Given the description of an element on the screen output the (x, y) to click on. 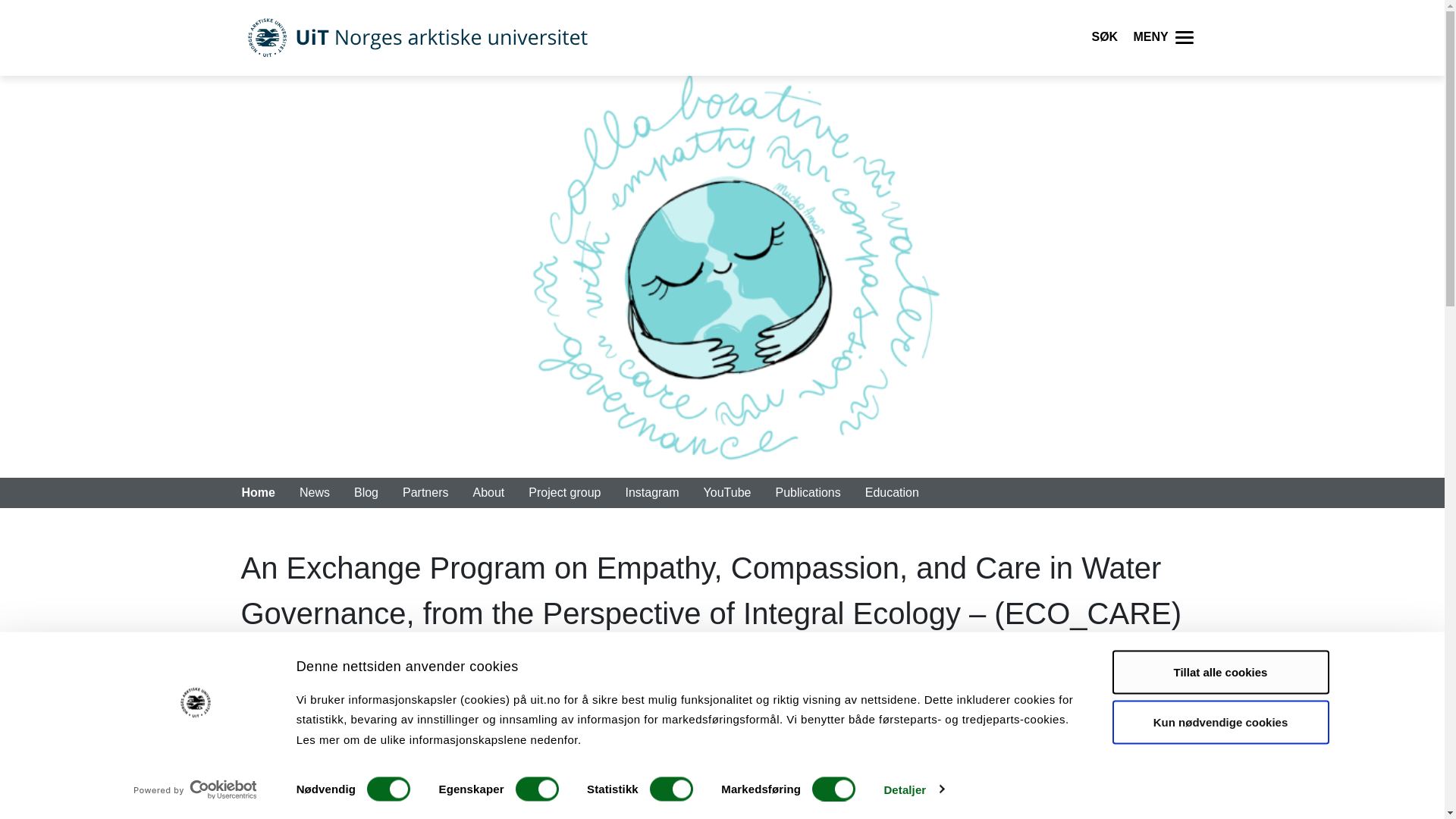
Detaljer (913, 789)
